Given the description of an element on the screen output the (x, y) to click on. 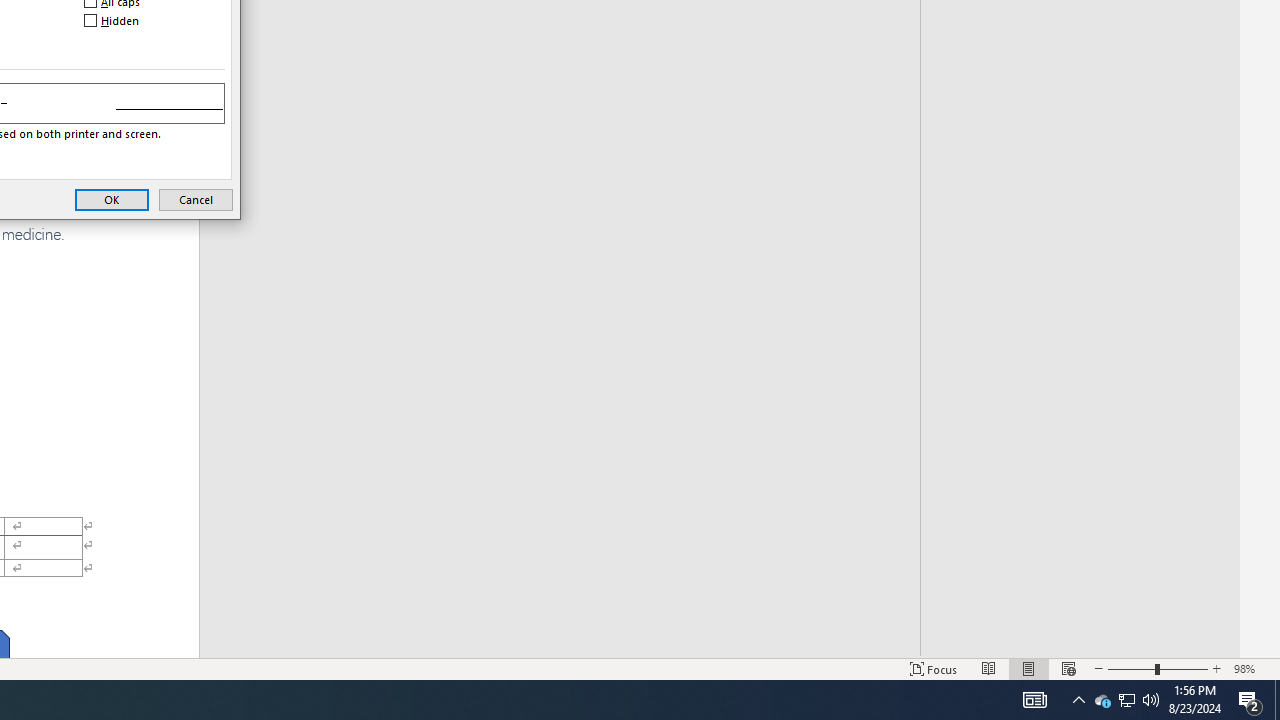
Notification Chevron (1078, 699)
AutomationID: 4105 (1126, 699)
Cancel (1102, 699)
User Promoted Notification Area (1034, 699)
OK (195, 199)
Action Center, 2 new notifications (1126, 699)
